Given the description of an element on the screen output the (x, y) to click on. 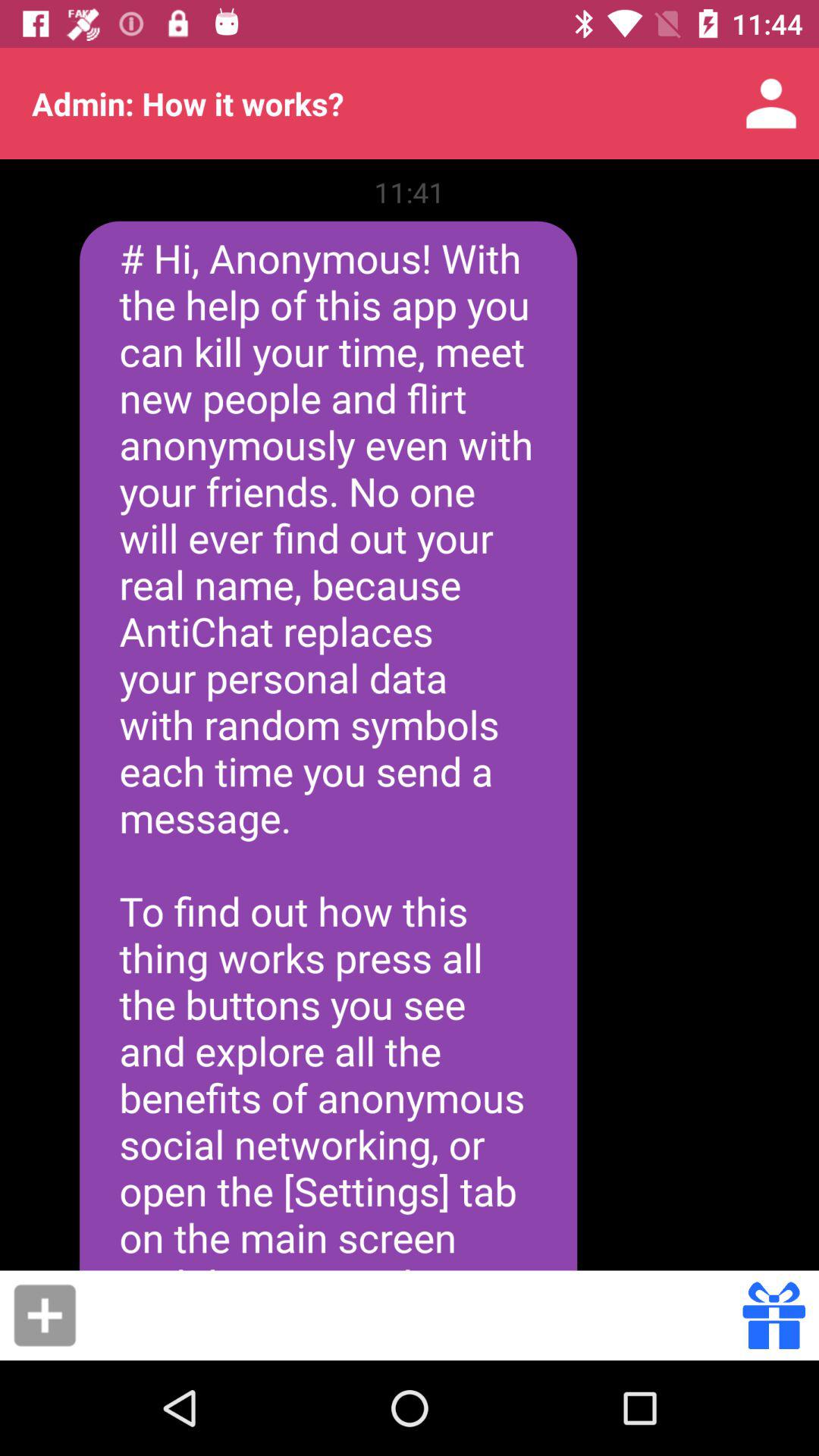
write new message (44, 1315)
